Given the description of an element on the screen output the (x, y) to click on. 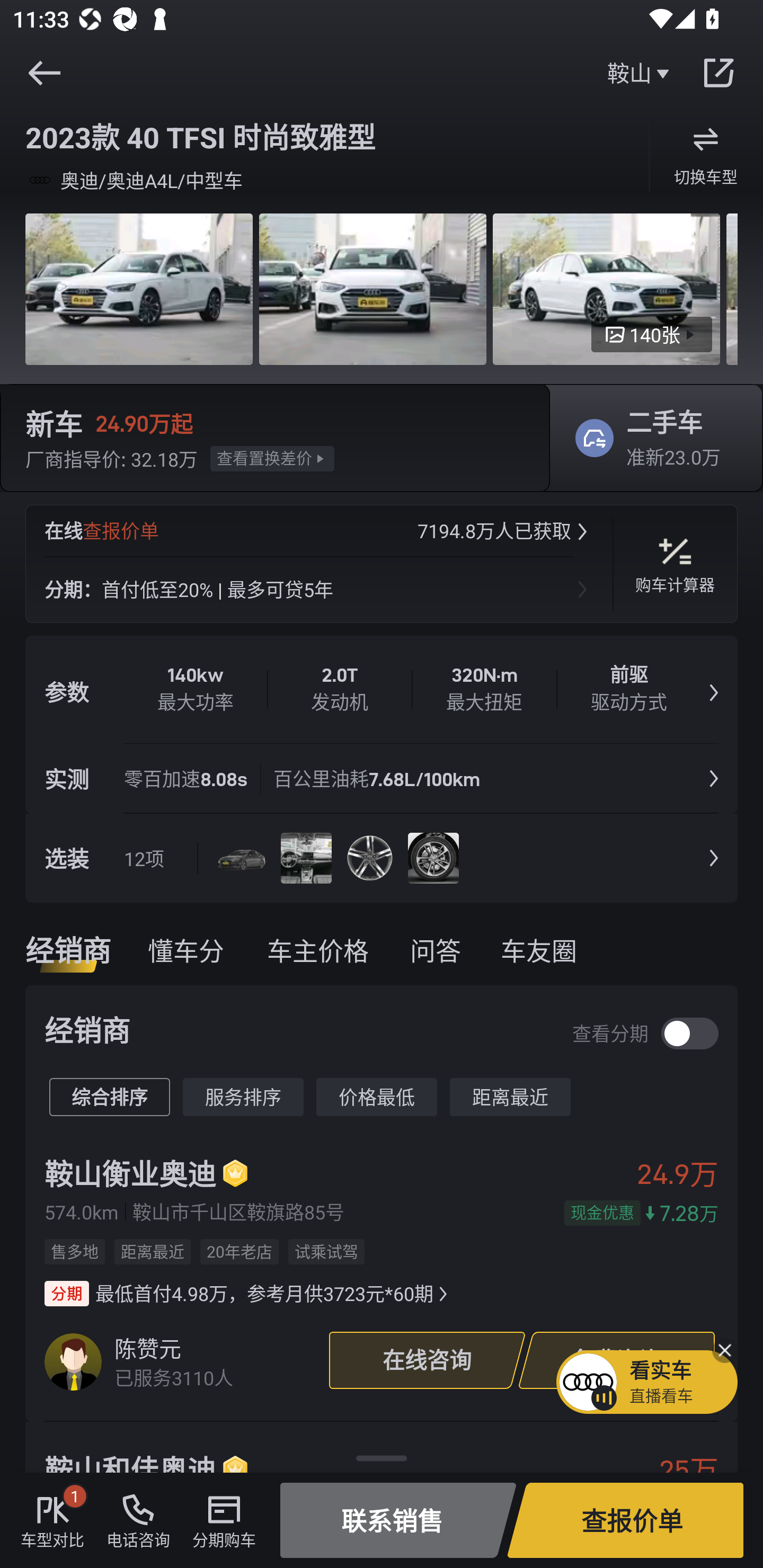
 (44, 72)
 (718, 72)
鞍山 (640, 73)
140张 (651, 334)
二手车 准新23.0万 (650, 438)
查看置换差价  (272, 458)
分期： 首付低至20% | 最多可贷5年 (318, 589)
参数 140kw 最大功率 2.0T 发动机 320N·m 最大扭矩 前驱 驱动方式 (381, 689)
实测 零百加速8.08s 百公里油耗7.68L/100km (381, 778)
零百加速8.08s (191, 778)
百公里油耗7.68L/100km (370, 778)
选装 12项 (381, 858)
懂车分 (185, 949)
车主价格 (317, 949)
问答 (434, 949)
车友圈 (543, 949)
综合排序 (109, 1097)
服务排序 (243, 1097)
价格最低 (376, 1097)
距离最近 (510, 1097)
现金优惠 (602, 1213)
最低首付4.98万，参考月供3723元*60期  (248, 1293)
在线咨询 (426, 1360)
看实车 直播看车 (646, 1382)
1 车型对比 (52, 1520)
电话咨询 (138, 1520)
分期购车 (224, 1520)
联系销售 (398, 1519)
查报价单 (625, 1519)
